Given the description of an element on the screen output the (x, y) to click on. 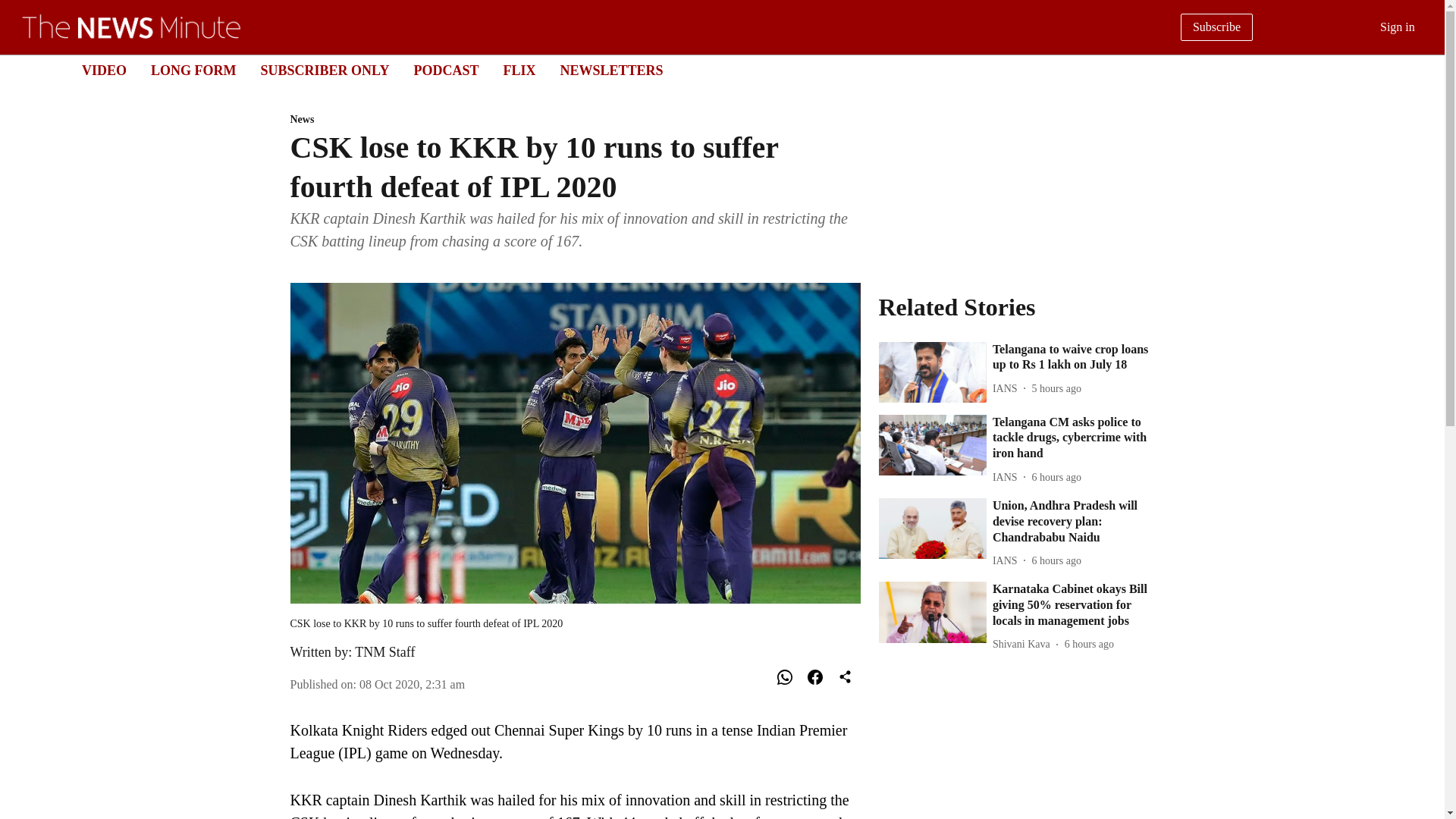
2024-07-17 03:37 (1056, 560)
IANS (1007, 560)
Shivani Kava (1024, 643)
Dark Mode (1415, 70)
Telangana to waive crop loans up to Rs 1 lakh on July 18 (1073, 357)
Related Stories (1015, 306)
SUBSCRIBER ONLY (325, 70)
LONG FORM (193, 70)
VIDEO (103, 70)
IANS (1007, 477)
News (574, 119)
TNM Staff (384, 652)
2020-10-07 18:31 (411, 684)
2024-07-17 03:55 (1056, 388)
IANS (1007, 388)
